Given the description of an element on the screen output the (x, y) to click on. 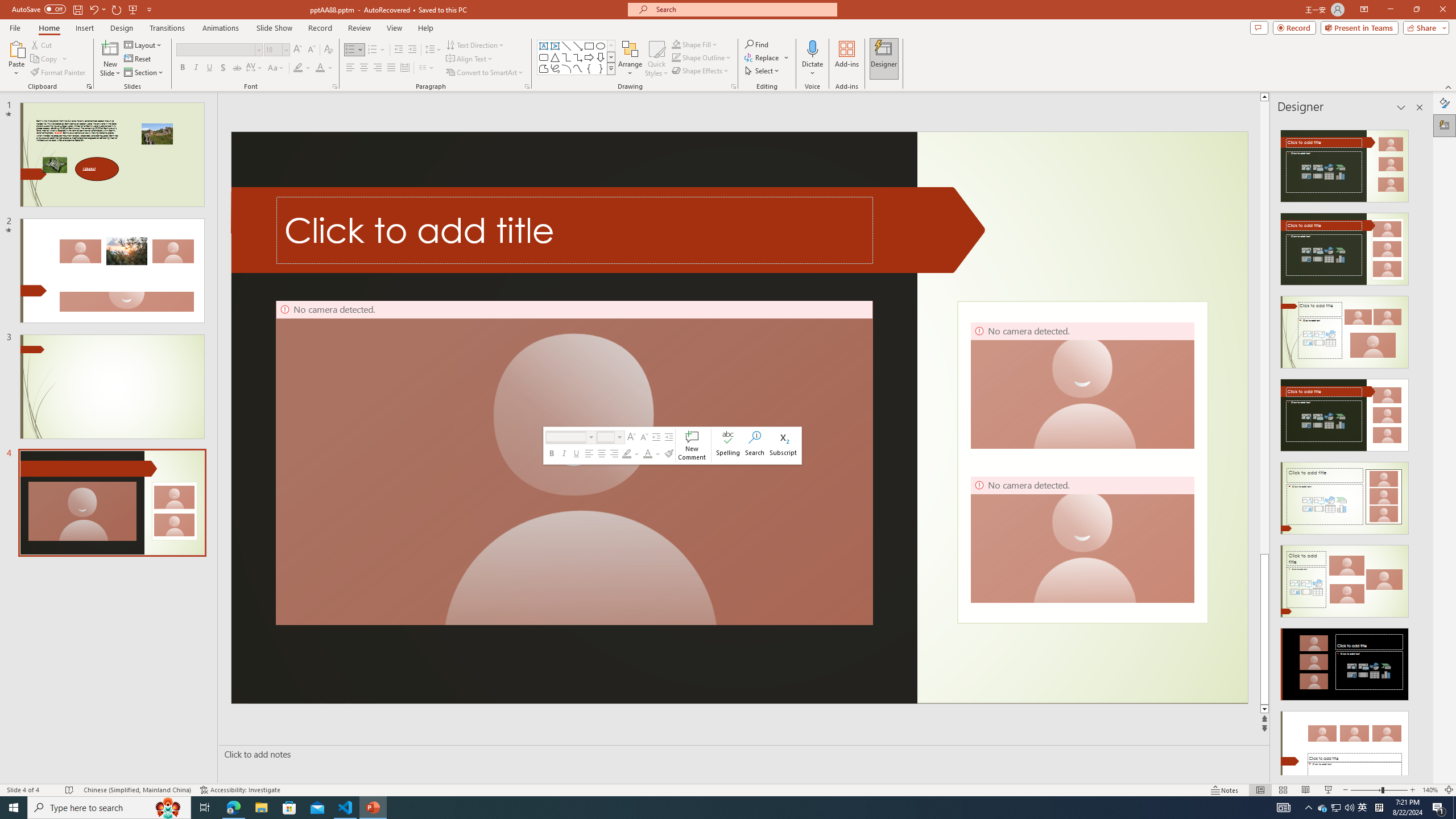
Class: NetUIScrollBar (1418, 447)
Line down (1264, 709)
Arrow: Right (589, 57)
Slide (111, 502)
Increase Indent (412, 49)
Rectangle (589, 45)
Line (566, 45)
Layout (143, 44)
Shape Outline Teal, Accent 1 (675, 56)
View (395, 28)
Task Pane Options (1400, 107)
Reset (138, 58)
Dictate (812, 48)
Change Case (276, 67)
Cut (42, 44)
